Given the description of an element on the screen output the (x, y) to click on. 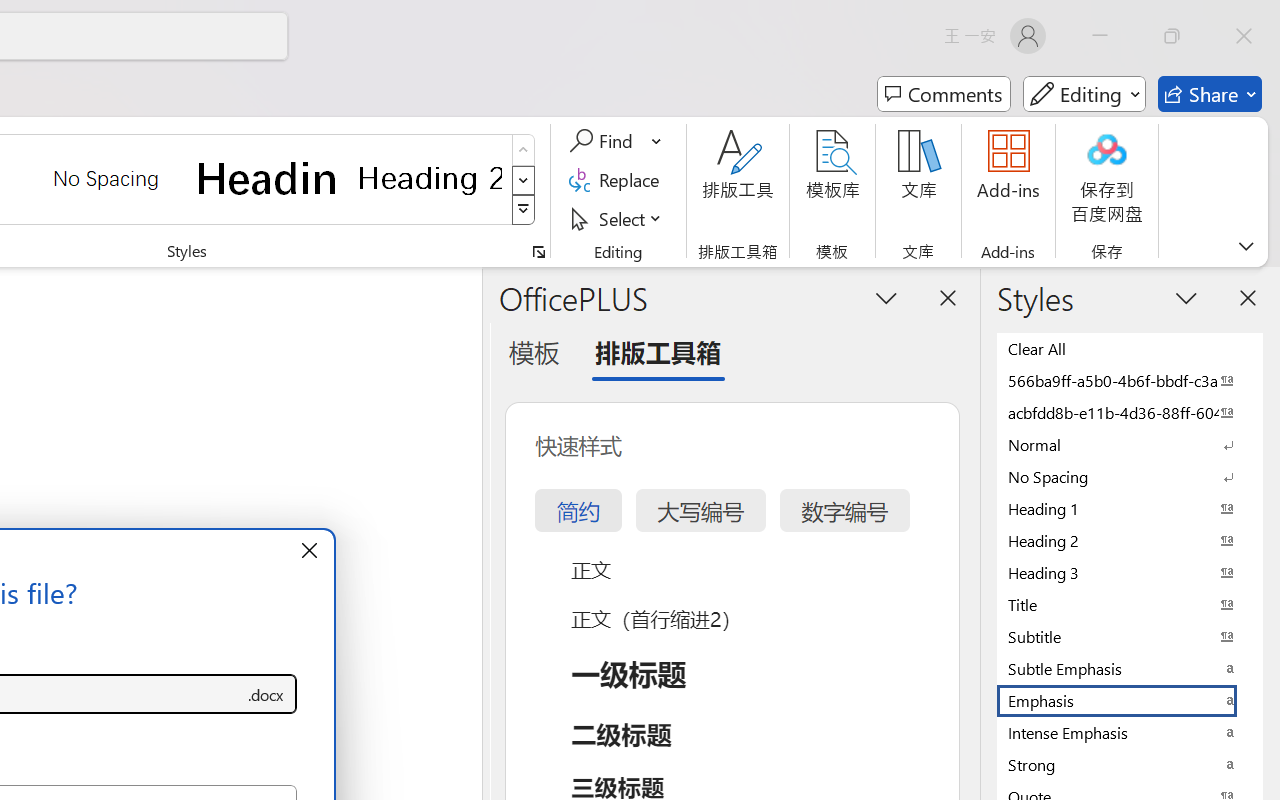
Strong (1130, 764)
Replace... (617, 179)
No Spacing (1130, 476)
